Given the description of an element on the screen output the (x, y) to click on. 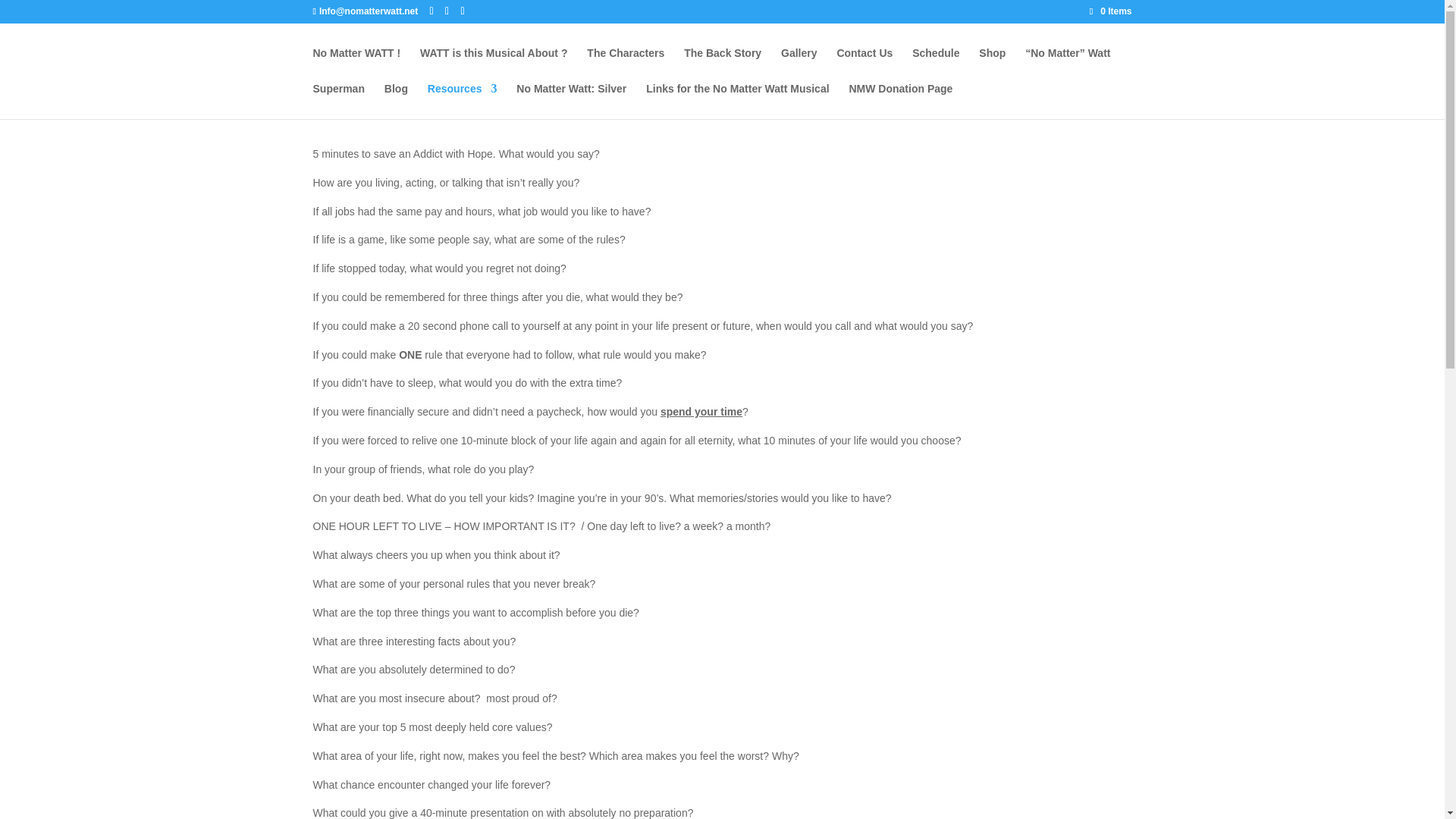
Superman (338, 100)
No Matter Watt: Silver (571, 100)
0 Items (1110, 10)
Gallery (798, 65)
WATT is this Musical About ? (493, 65)
The Back Story (722, 65)
Schedule (935, 65)
No Matter WATT ! (356, 65)
Links for the No Matter Watt Musical (737, 100)
NMW Donation Page (900, 100)
